Given the description of an element on the screen output the (x, y) to click on. 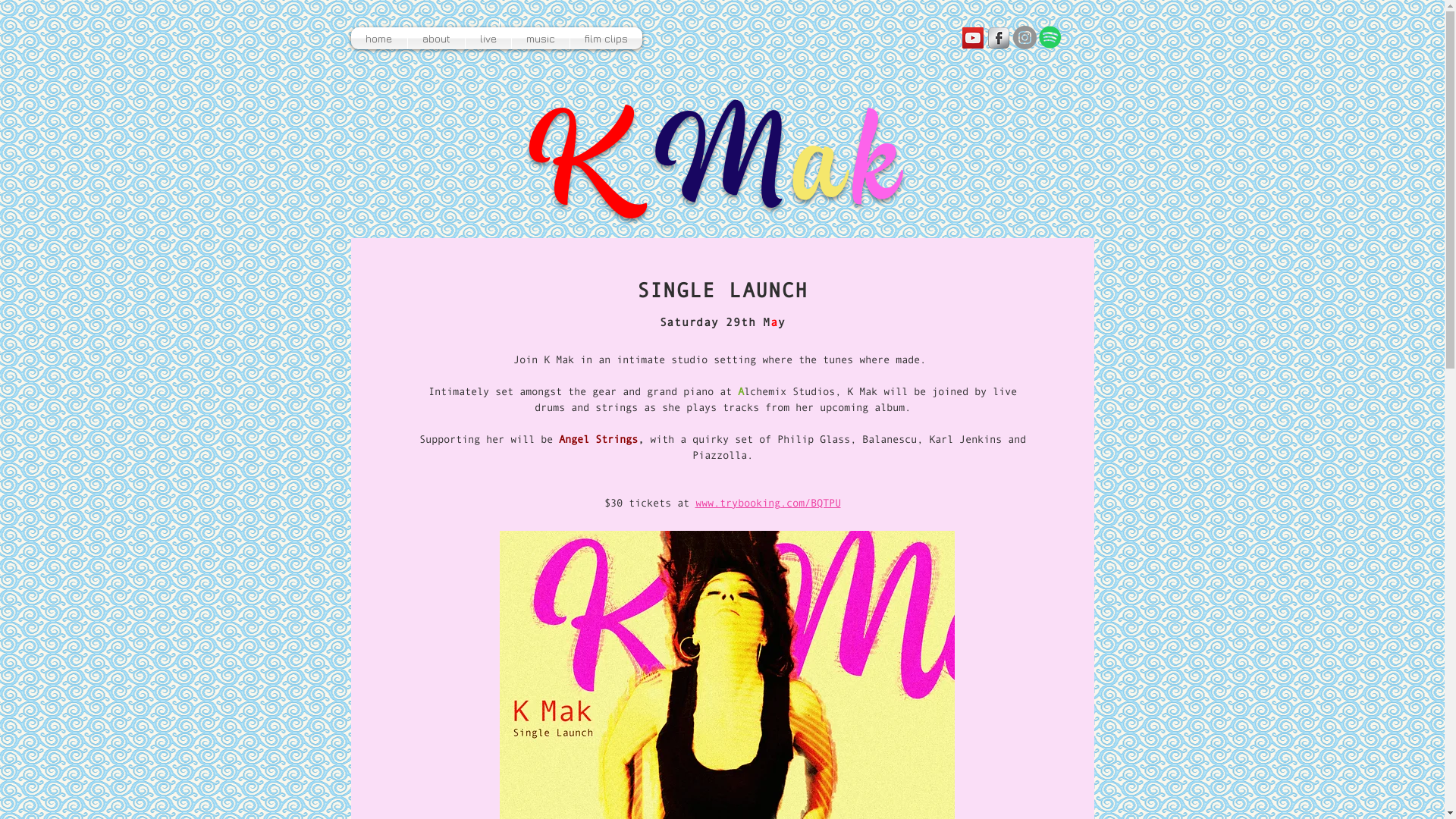
home Element type: text (378, 38)
film clips Element type: text (606, 38)
music Element type: text (539, 38)
www.trybooking.com/BQTPU Element type: text (767, 502)
Angel Strings Element type: text (597, 439)
live Element type: text (488, 38)
about Element type: text (435, 38)
